Given the description of an element on the screen output the (x, y) to click on. 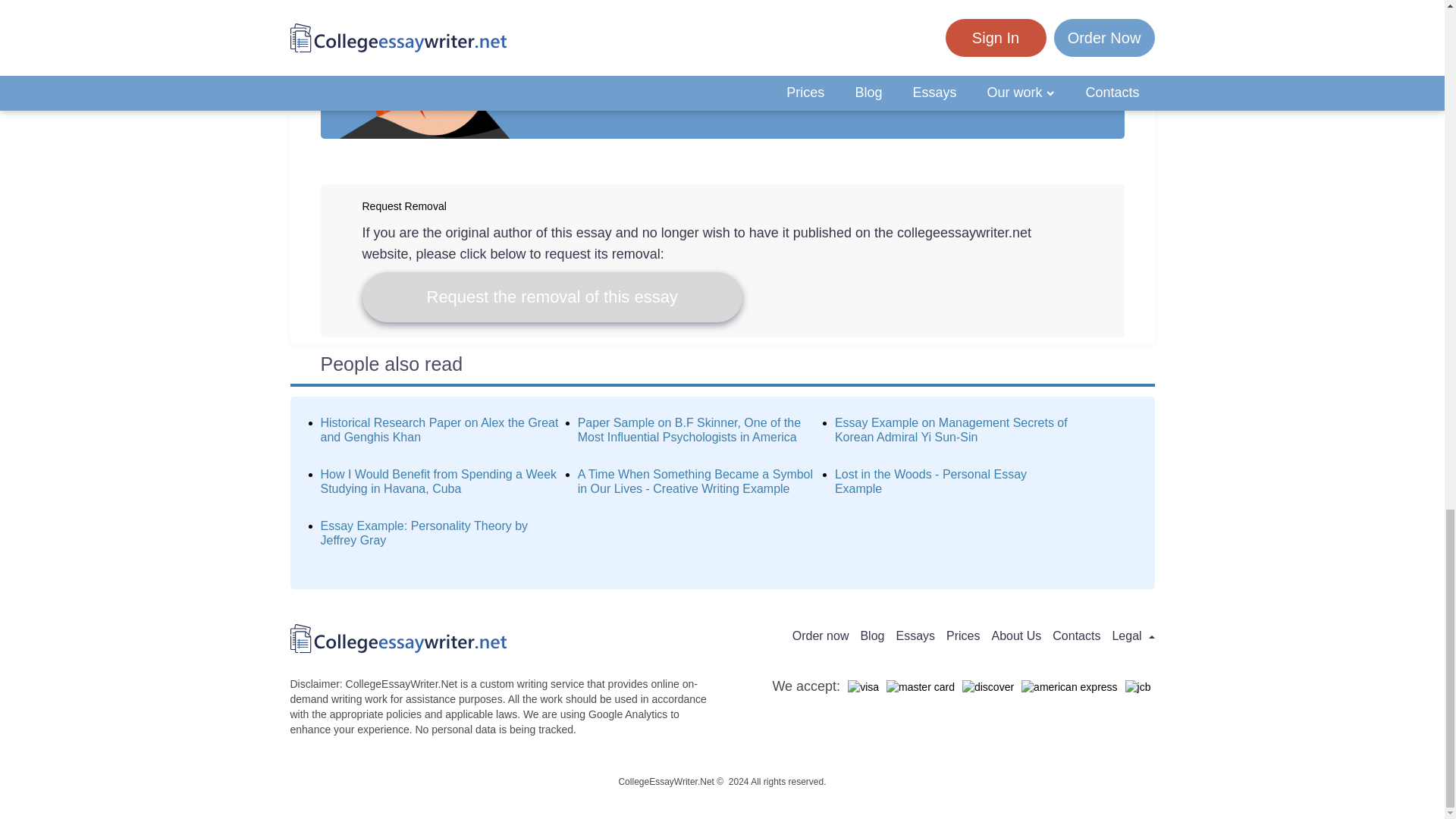
Request the removal of this essay (552, 296)
master card (920, 687)
Lost in the Woods - Personal Essay Example (930, 481)
Blog (871, 635)
visa (863, 687)
american express (1070, 687)
About Us (1016, 635)
Order now (820, 635)
